Given the description of an element on the screen output the (x, y) to click on. 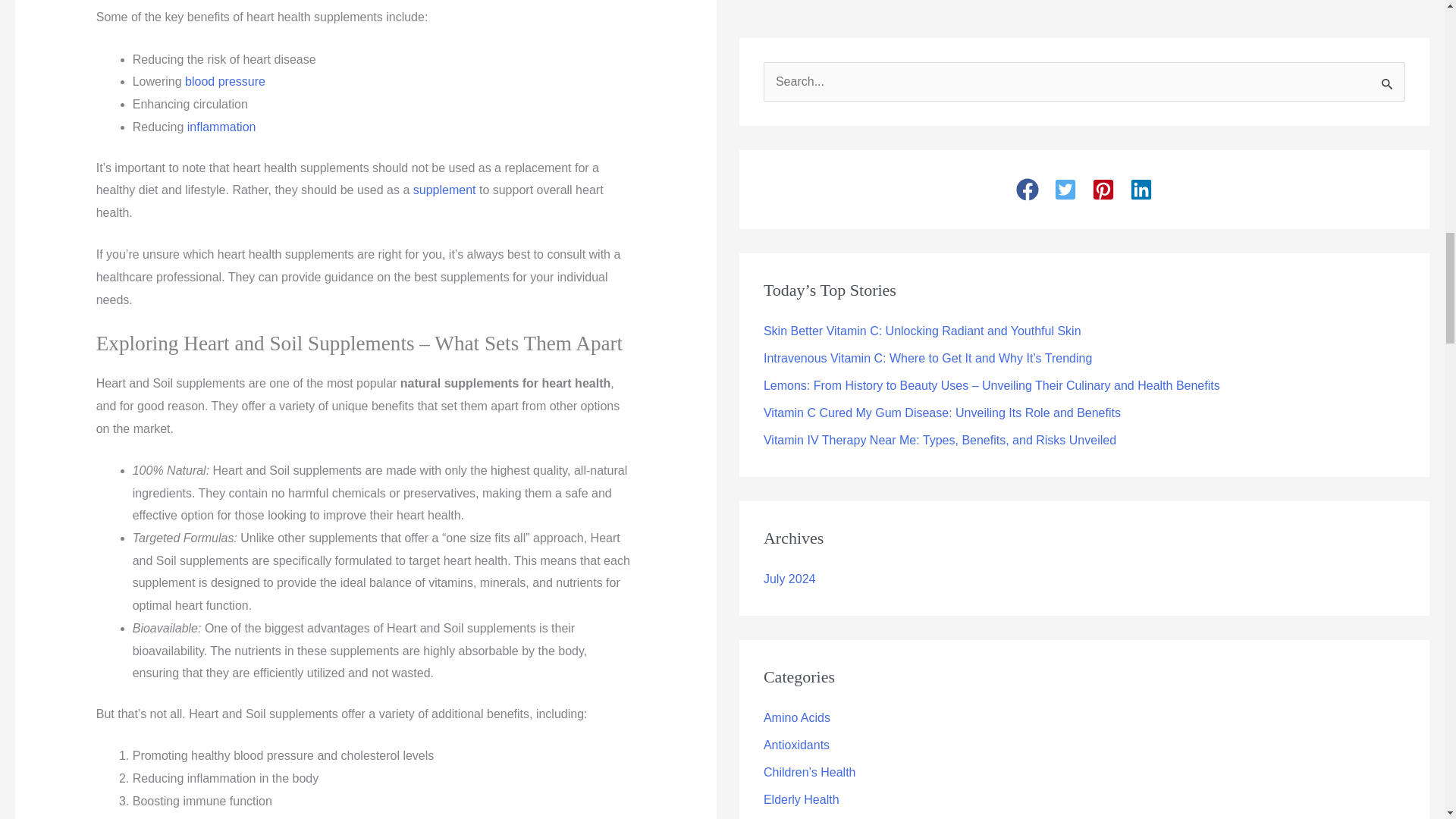
inflammation (221, 126)
supplement (444, 189)
blood pressure (224, 81)
